Given the description of an element on the screen output the (x, y) to click on. 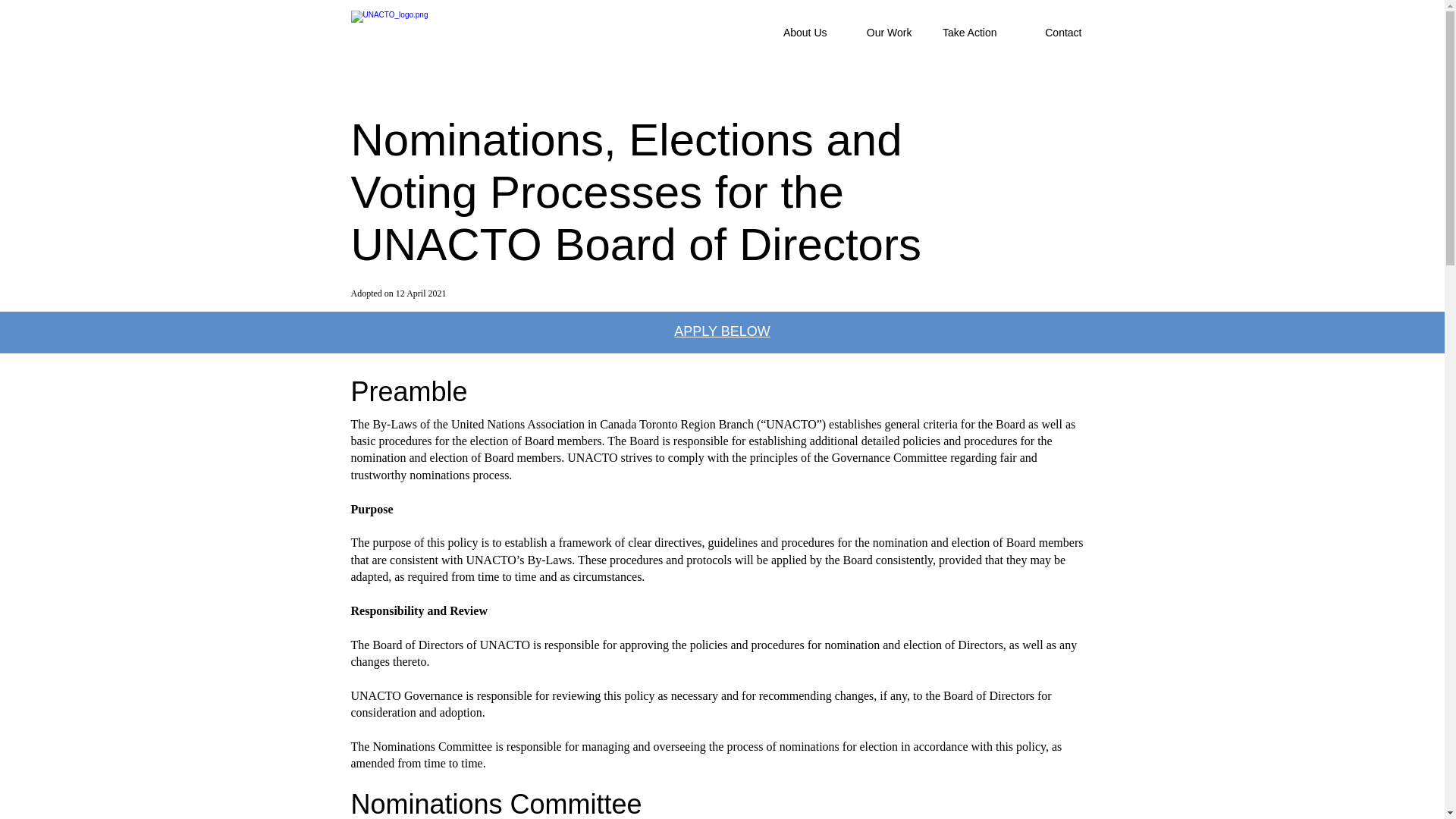
Contact (1051, 32)
UNACTO (481, 33)
APPLY BELOW (722, 331)
